Given the description of an element on the screen output the (x, y) to click on. 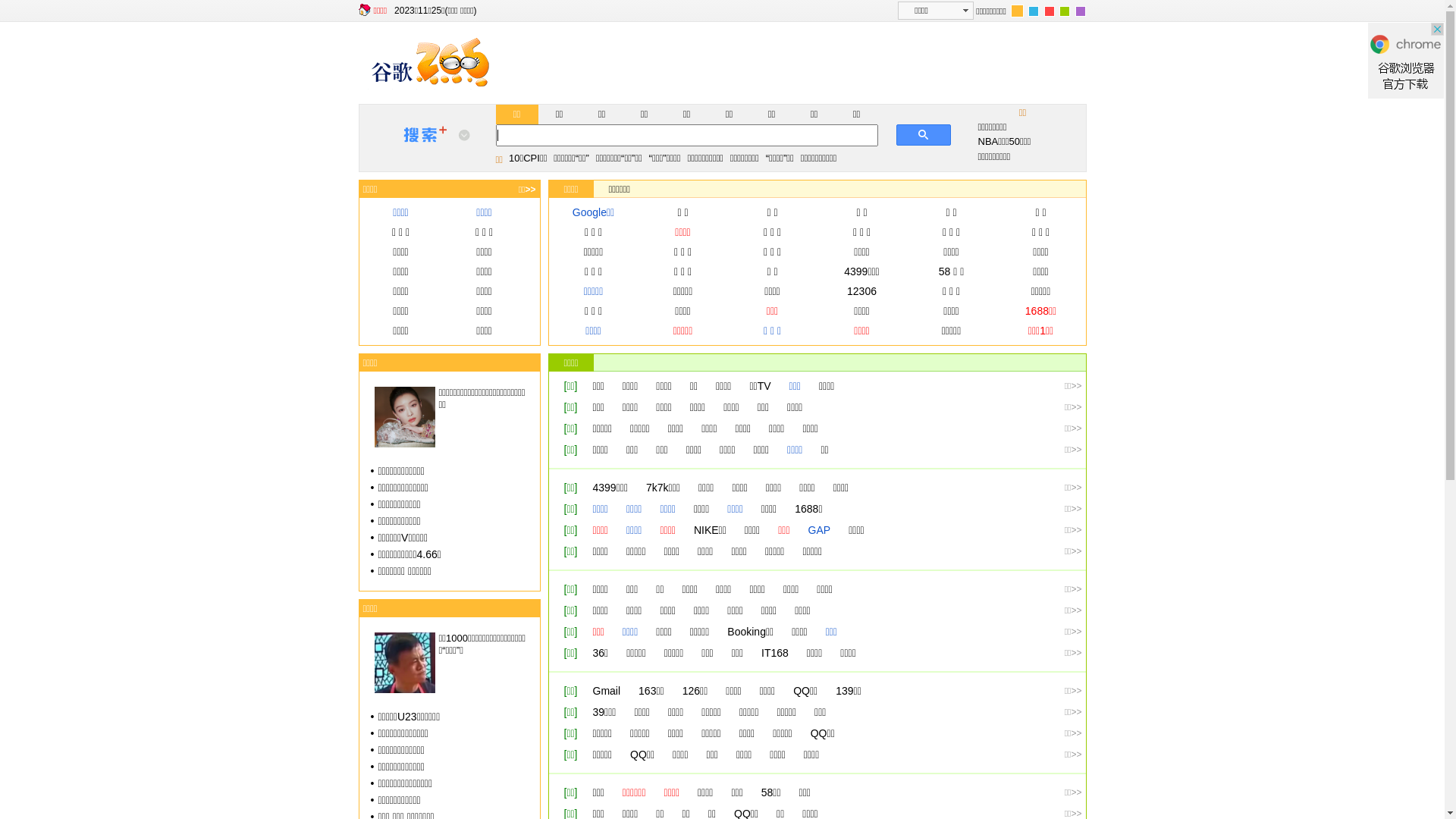
Gmail Element type: text (607, 690)
IT168 Element type: text (774, 652)
GAP Element type: text (819, 530)
12306 Element type: text (861, 291)
